Given the description of an element on the screen output the (x, y) to click on. 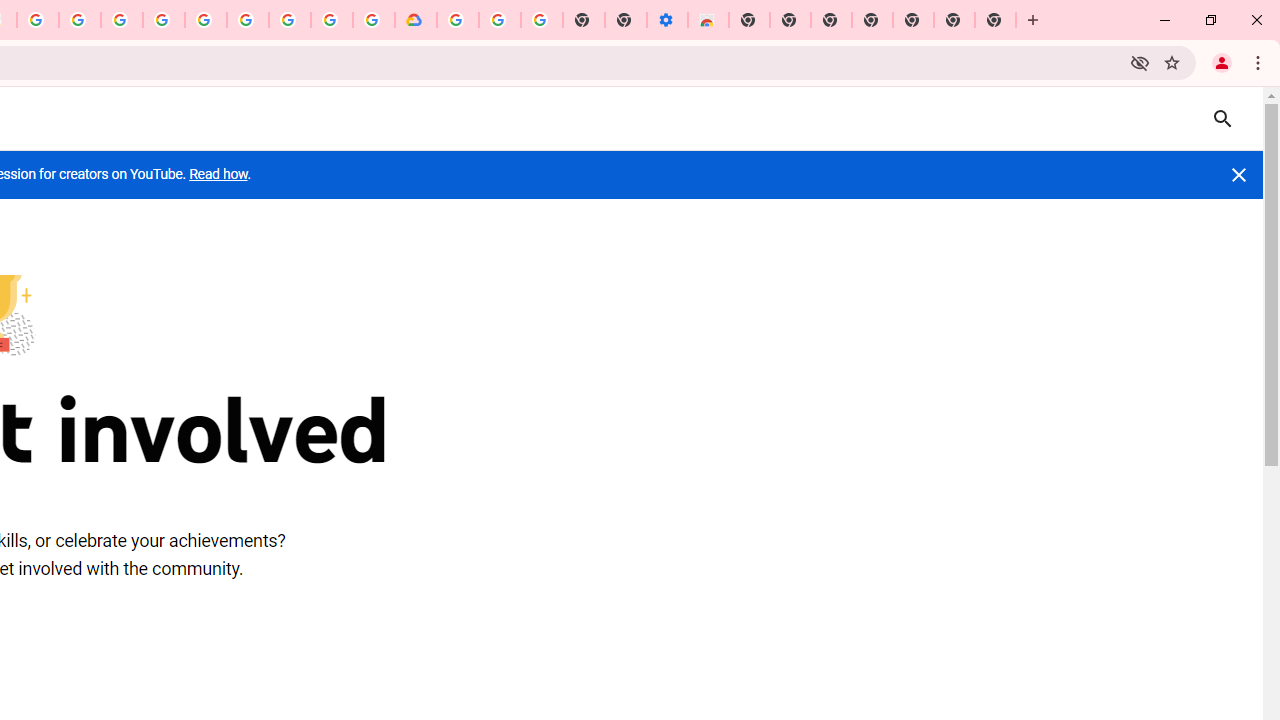
New Tab (995, 20)
Google Account Help (499, 20)
Read how (218, 174)
Sign in - Google Accounts (457, 20)
Ad Settings (122, 20)
